Given the description of an element on the screen output the (x, y) to click on. 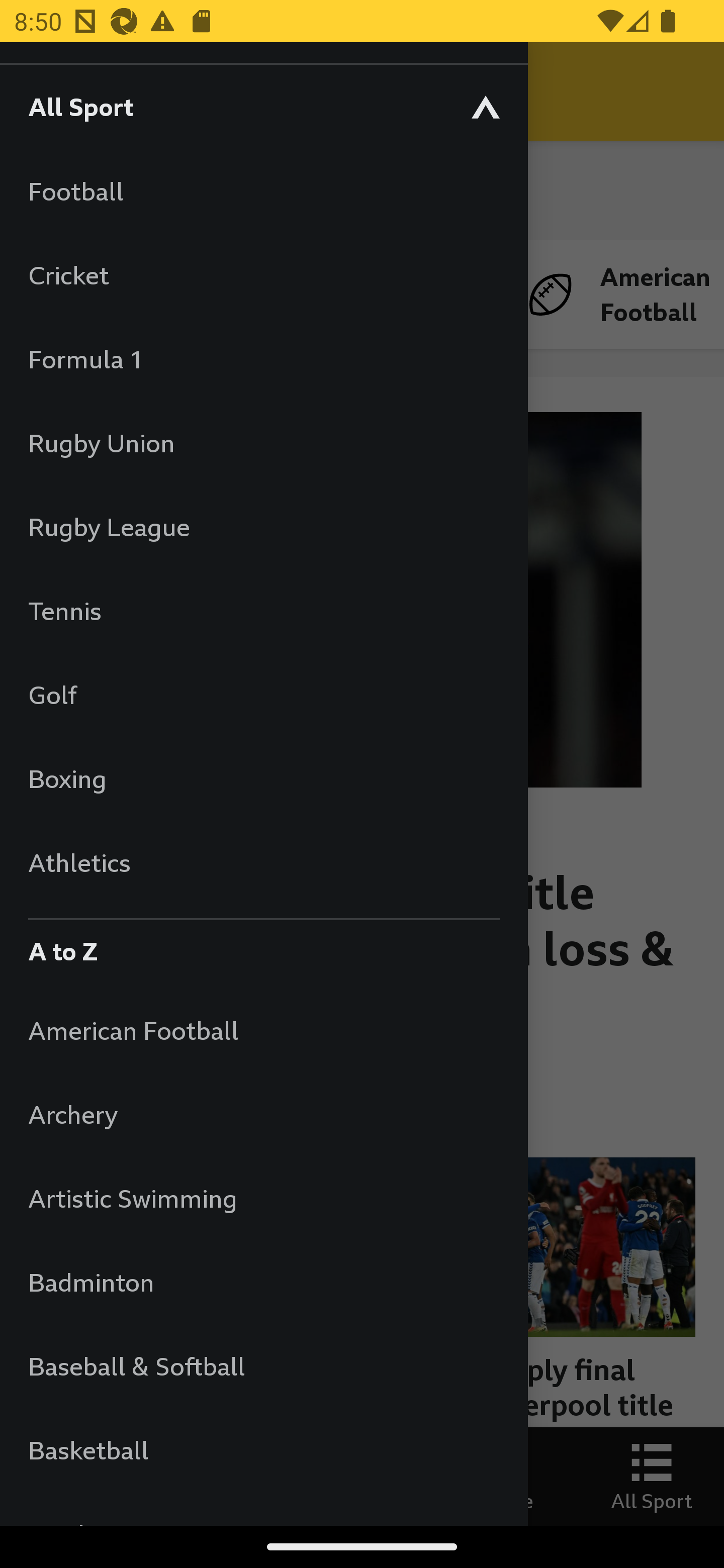
All Sport (263, 105)
Football (263, 190)
Cricket (263, 274)
Formula 1 (263, 358)
Rugby Union (263, 441)
Rugby League (263, 526)
Tennis (263, 609)
Golf (263, 694)
Boxing (263, 778)
Athletics (263, 862)
A to Z (263, 945)
American Football (263, 1029)
Archery (263, 1114)
Artistic Swimming (263, 1197)
Badminton (263, 1282)
Baseball & Softball (263, 1365)
Basketball (263, 1450)
